Given the description of an element on the screen output the (x, y) to click on. 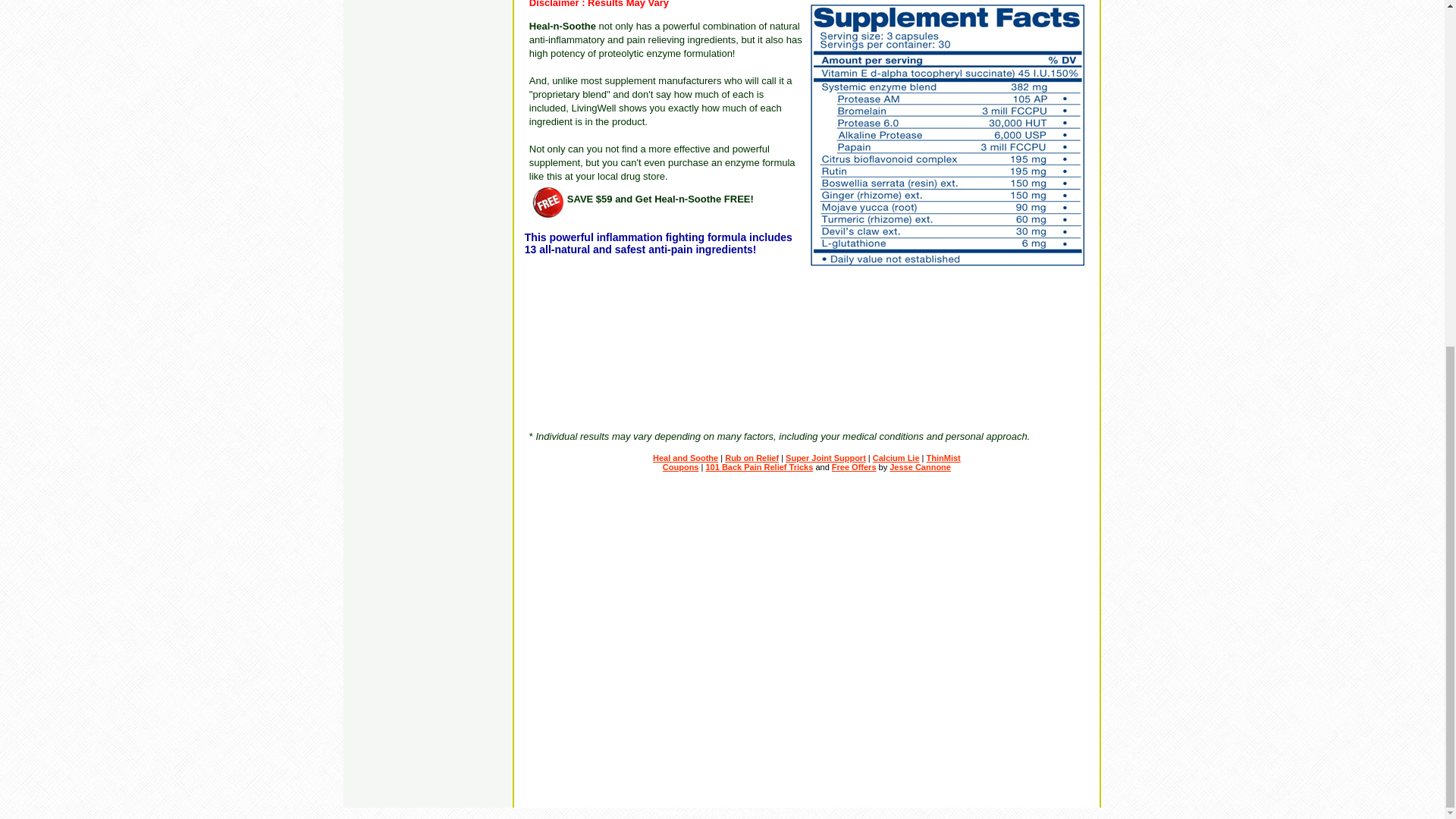
Heal and Soothe (684, 457)
Free Offers (853, 466)
Advertisement (797, 386)
101 Back Pain Relief Tricks (758, 466)
Jesse Cannone (919, 466)
Calcium Lie (896, 457)
ThinMist (943, 457)
Contact Us (674, 813)
Rub on Relief (751, 457)
Coupons (680, 466)
Super Joint Support (826, 457)
